Given the description of an element on the screen output the (x, y) to click on. 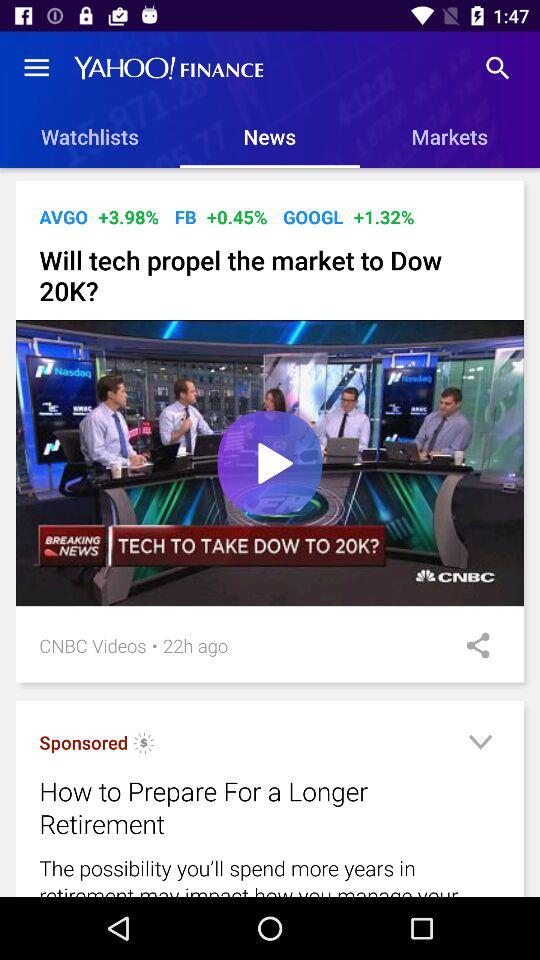
go down (480, 745)
